Given the description of an element on the screen output the (x, y) to click on. 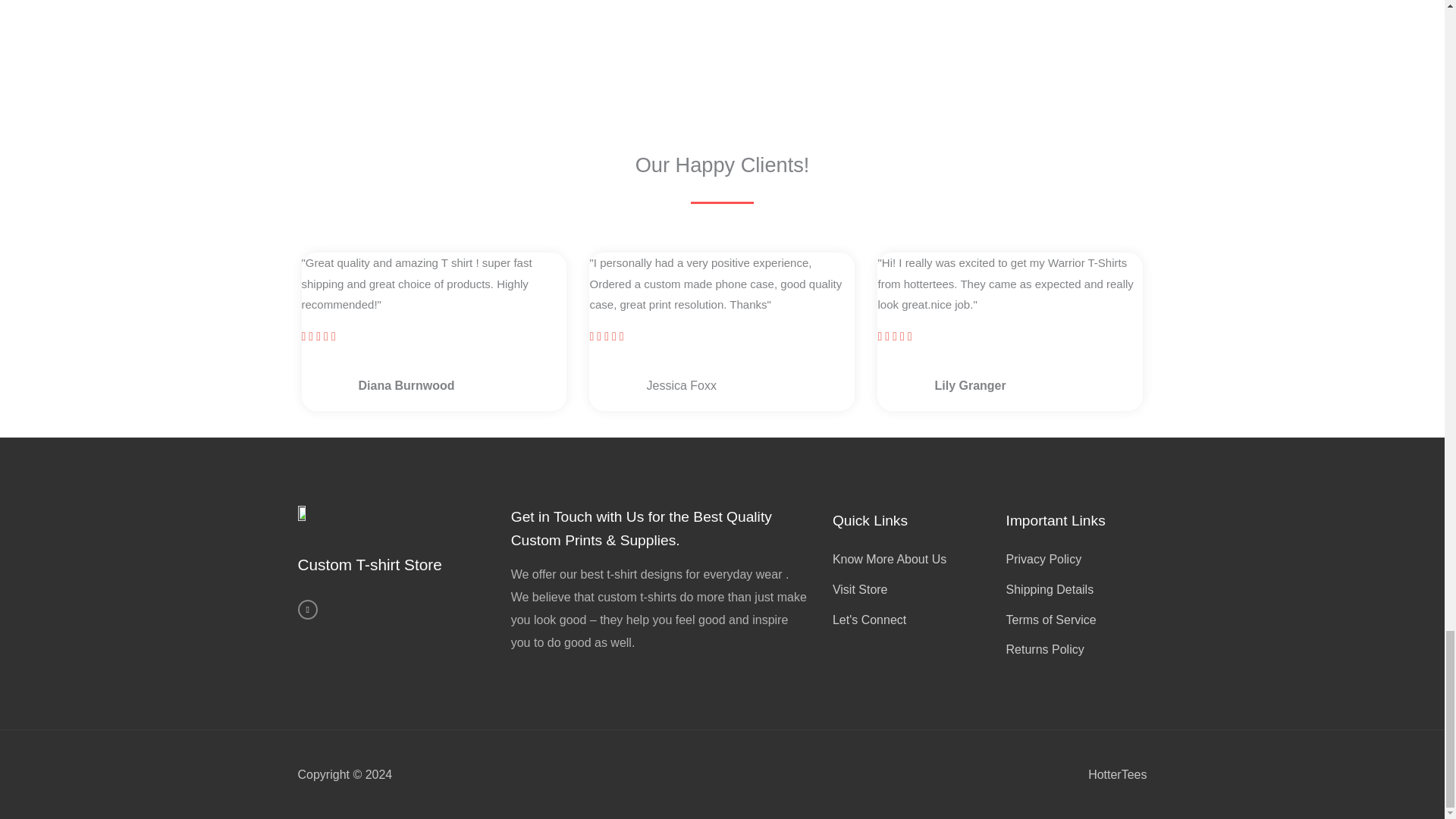
Know More About Us (911, 558)
Privacy Policy (1073, 558)
Let's Connect (911, 620)
Visit Store (911, 589)
